Given the description of an element on the screen output the (x, y) to click on. 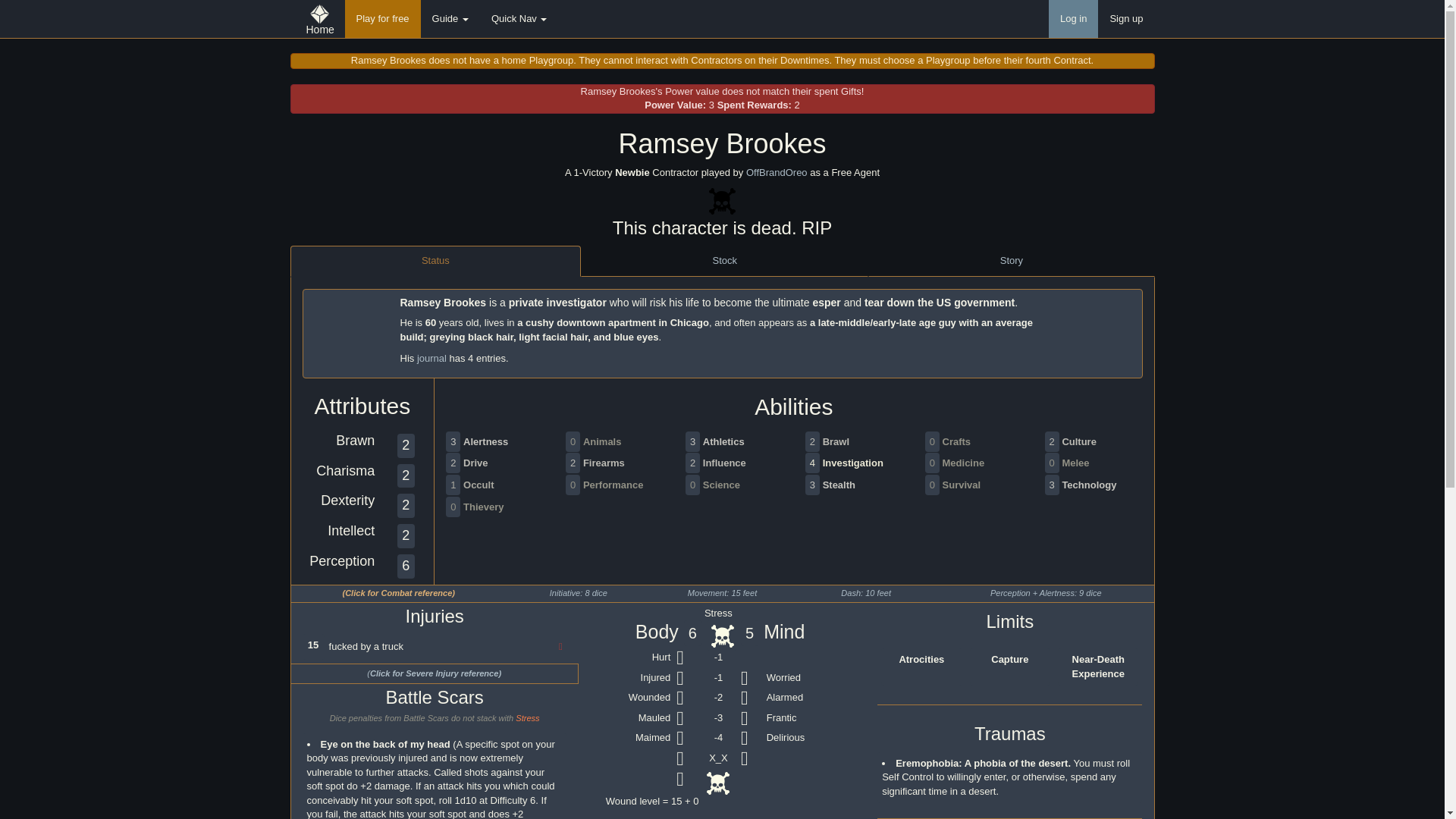
Home (319, 18)
Guide (450, 18)
Play for free (381, 18)
